Given the description of an element on the screen output the (x, y) to click on. 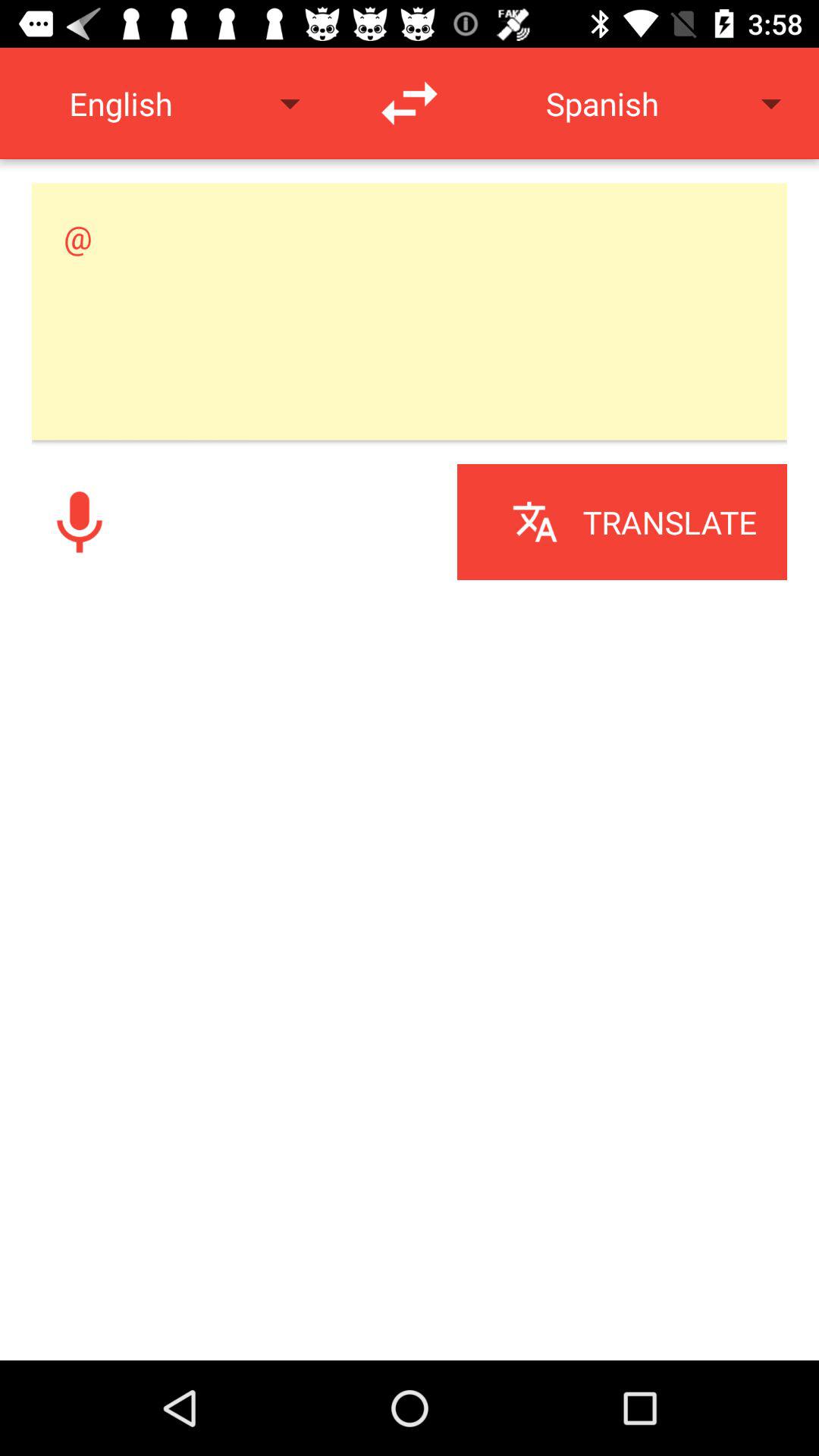
mute (79, 521)
